Given the description of an element on the screen output the (x, y) to click on. 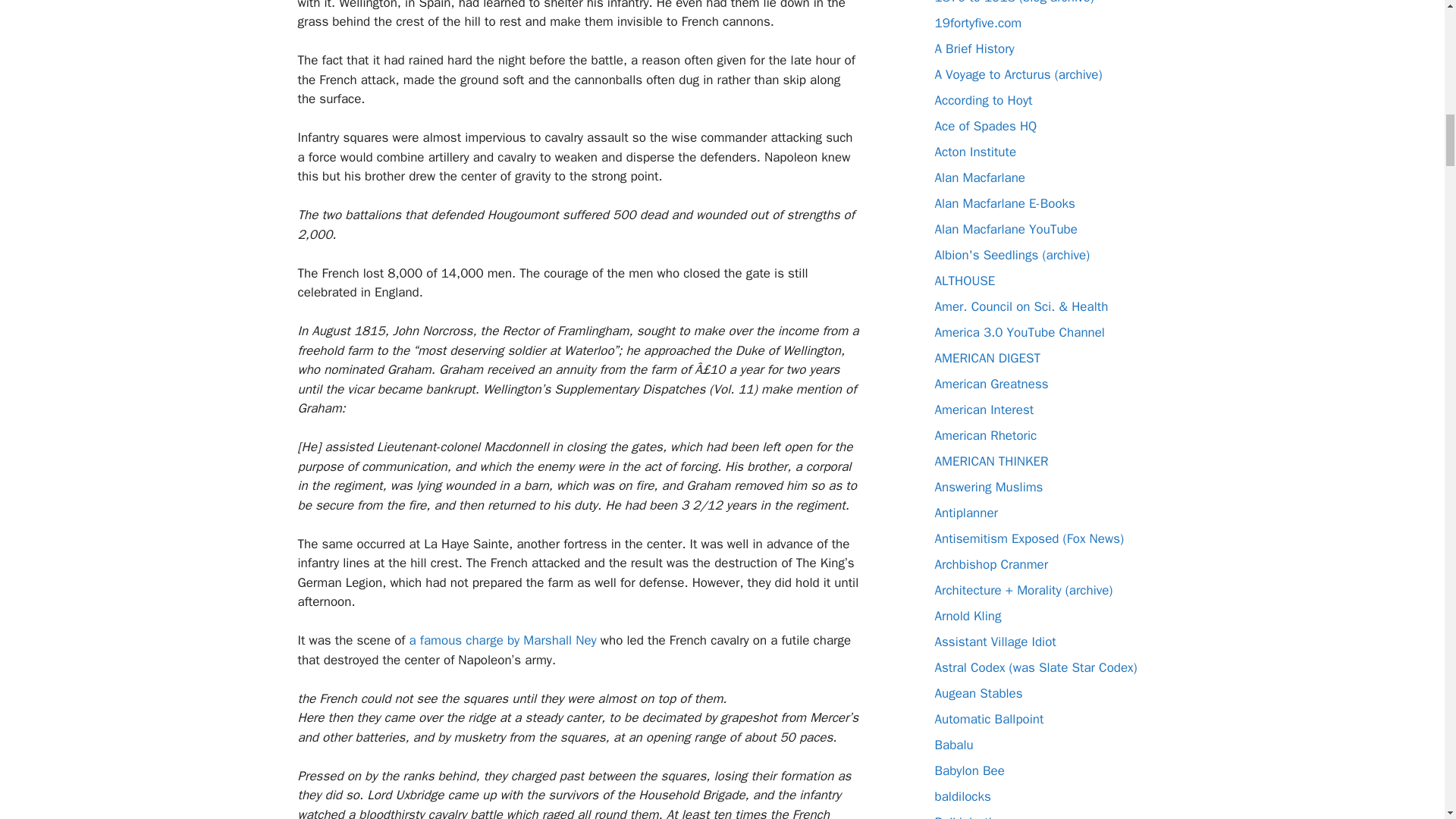
a famous charge by Marshall Ney (504, 640)
Walter Russell Mead (983, 409)
